Given the description of an element on the screen output the (x, y) to click on. 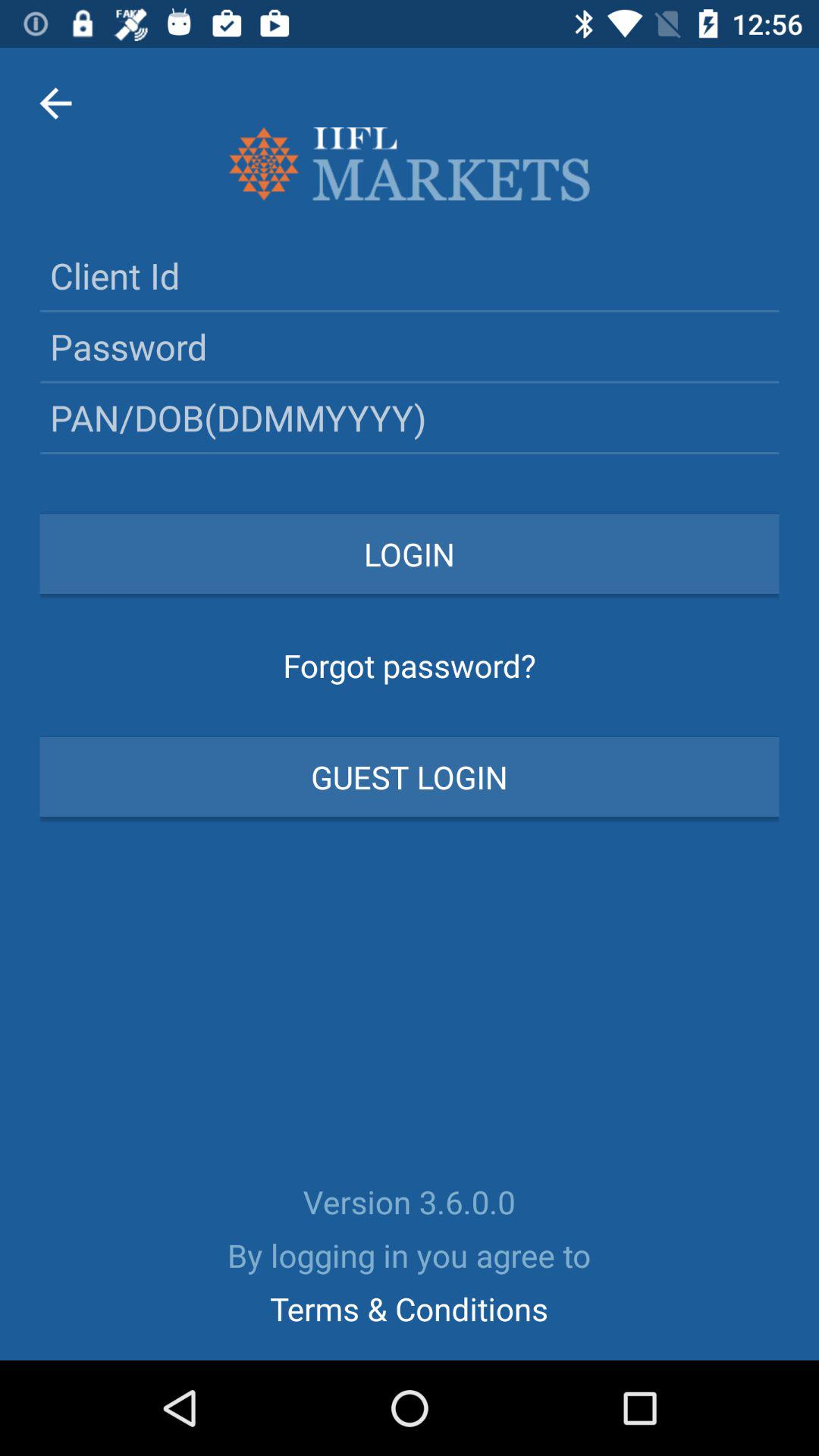
click on the third text field (409, 417)
click on the client id iption (409, 275)
click on the third text field (409, 417)
select the button guest login (409, 776)
click on the second text field (409, 347)
click on the client id text field (409, 275)
click on password below the text client id (409, 347)
click on login (409, 553)
